Given the description of an element on the screen output the (x, y) to click on. 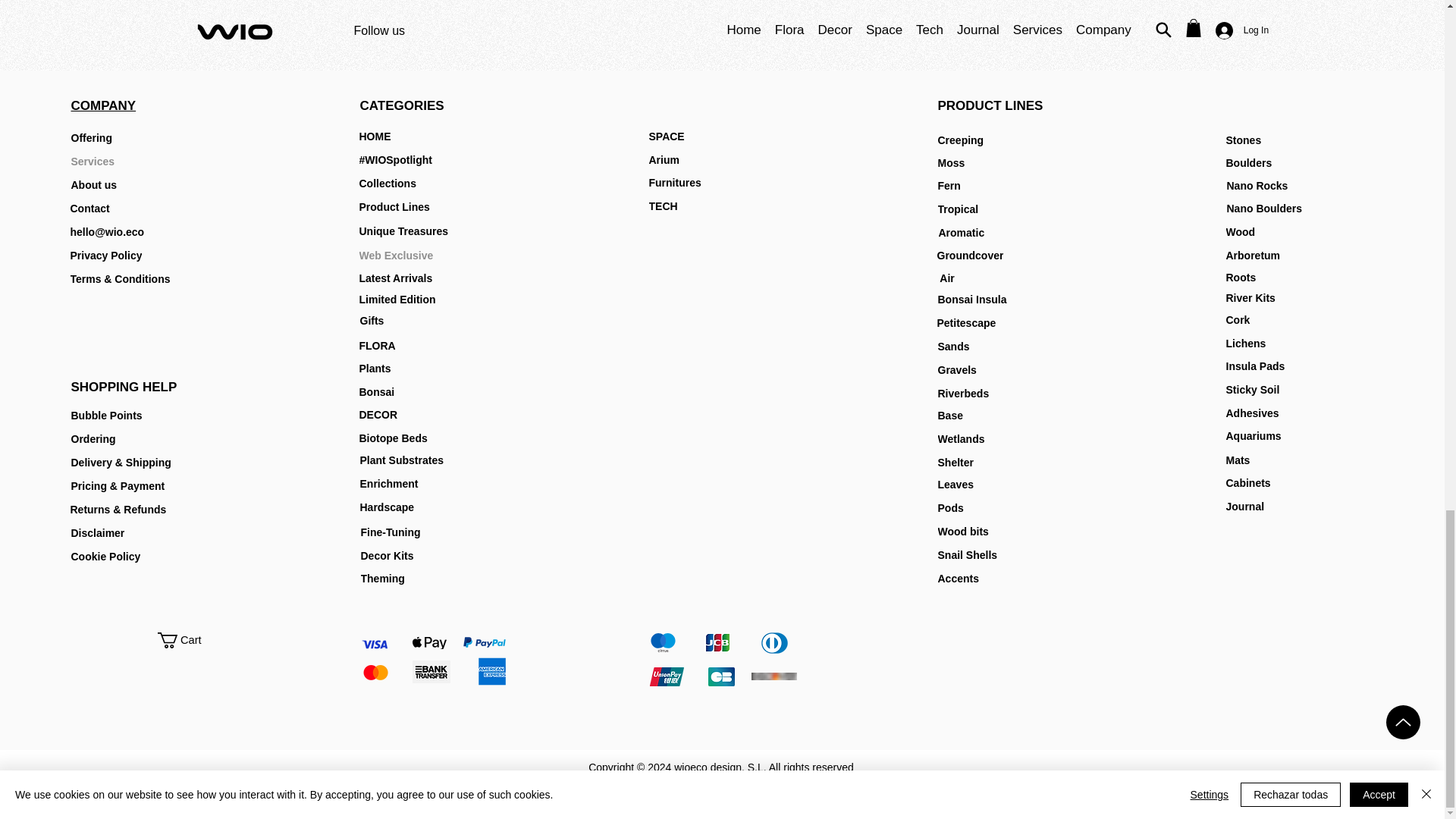
jcb.png (716, 642)
apple pay logo.png (429, 643)
VISA-Logo.png (374, 644)
logo-Paypal.png (484, 641)
logo-Mastercard.png (375, 672)
Cart (187, 640)
